Given the description of an element on the screen output the (x, y) to click on. 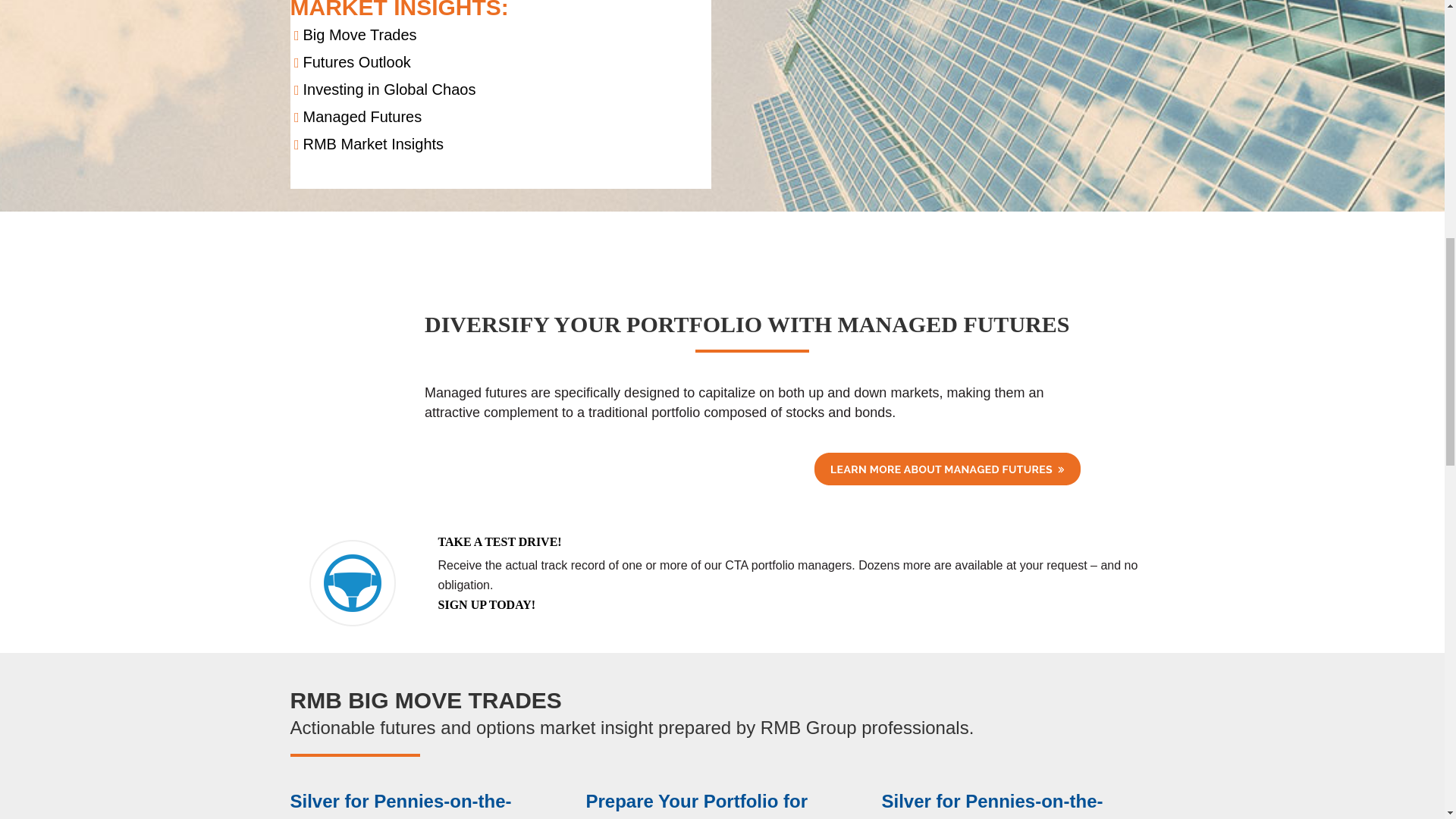
TAKE A TEST DRIVE! (500, 541)
RMB Market Insights (373, 143)
Investing in Global Chaos (389, 89)
SIGN UP TODAY! (486, 604)
Managed Futures (362, 116)
Silver for Pennies-on-the-Dollar (991, 805)
Futures Outlook (356, 62)
Big Move Trades (359, 34)
Prepare Your Portfolio for Volatility (696, 805)
